Given the description of an element on the screen output the (x, y) to click on. 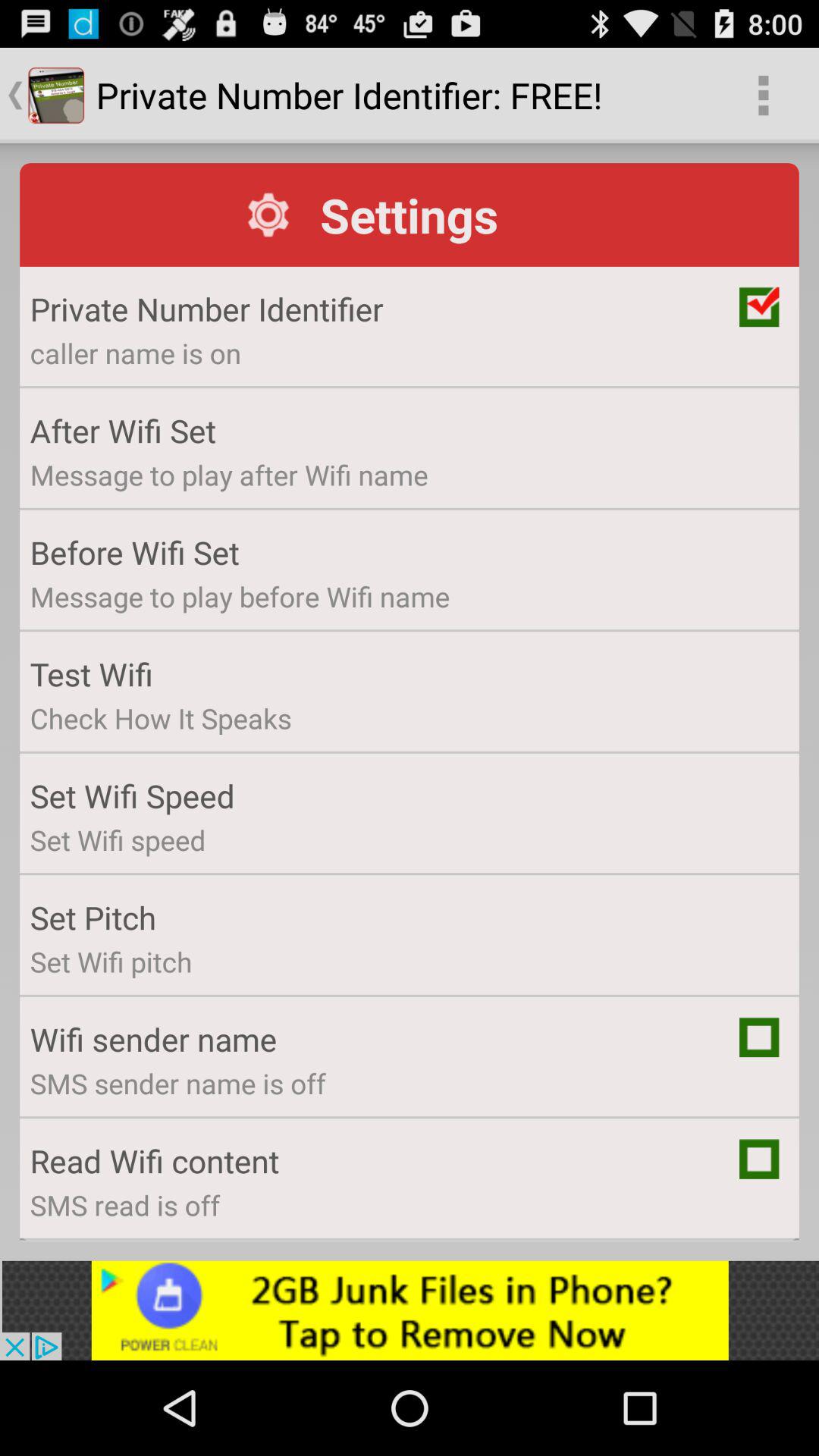
go to click button (759, 1159)
